Given the description of an element on the screen output the (x, y) to click on. 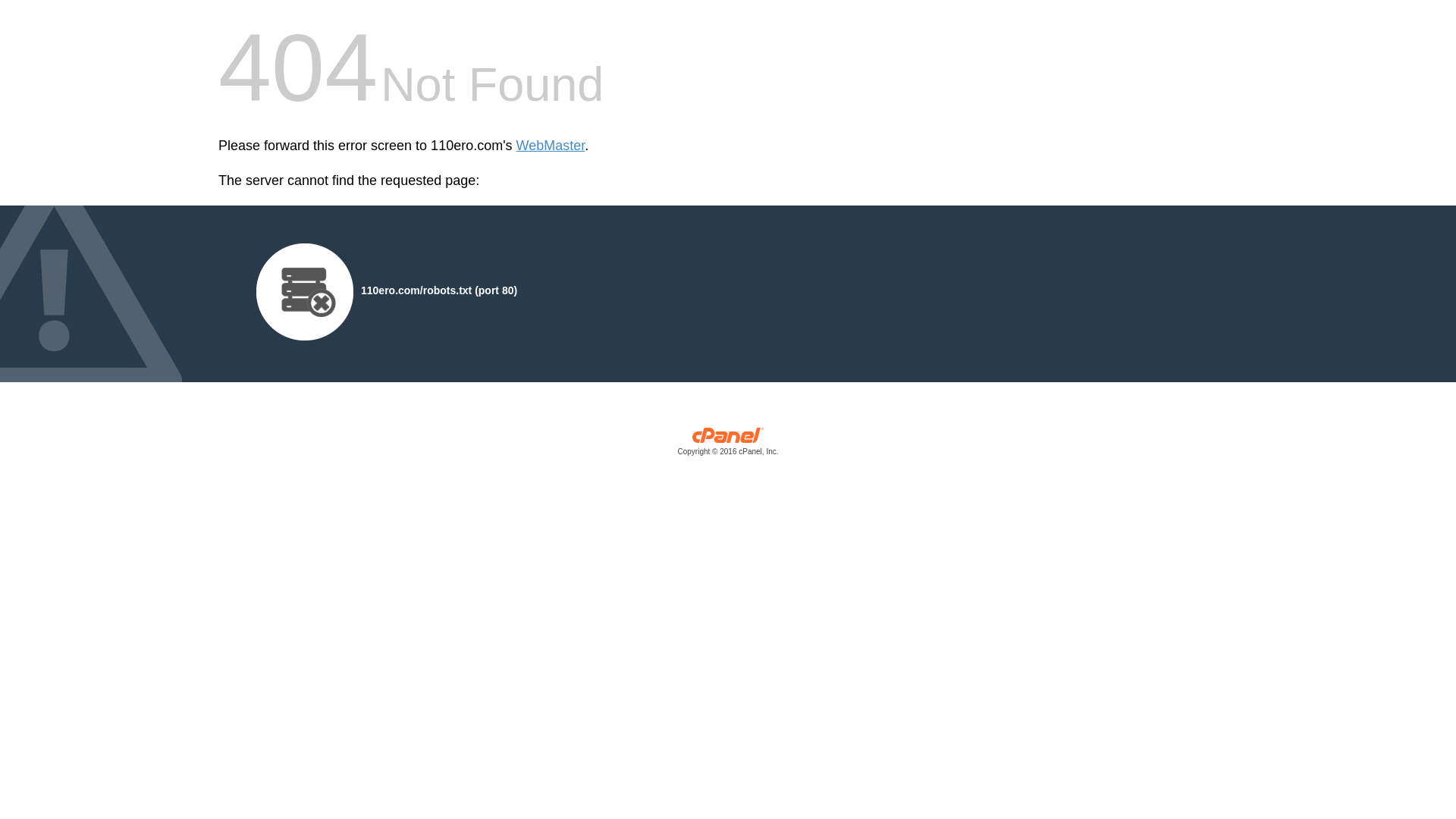
WebMaster Element type: text (550, 145)
